Given the description of an element on the screen output the (x, y) to click on. 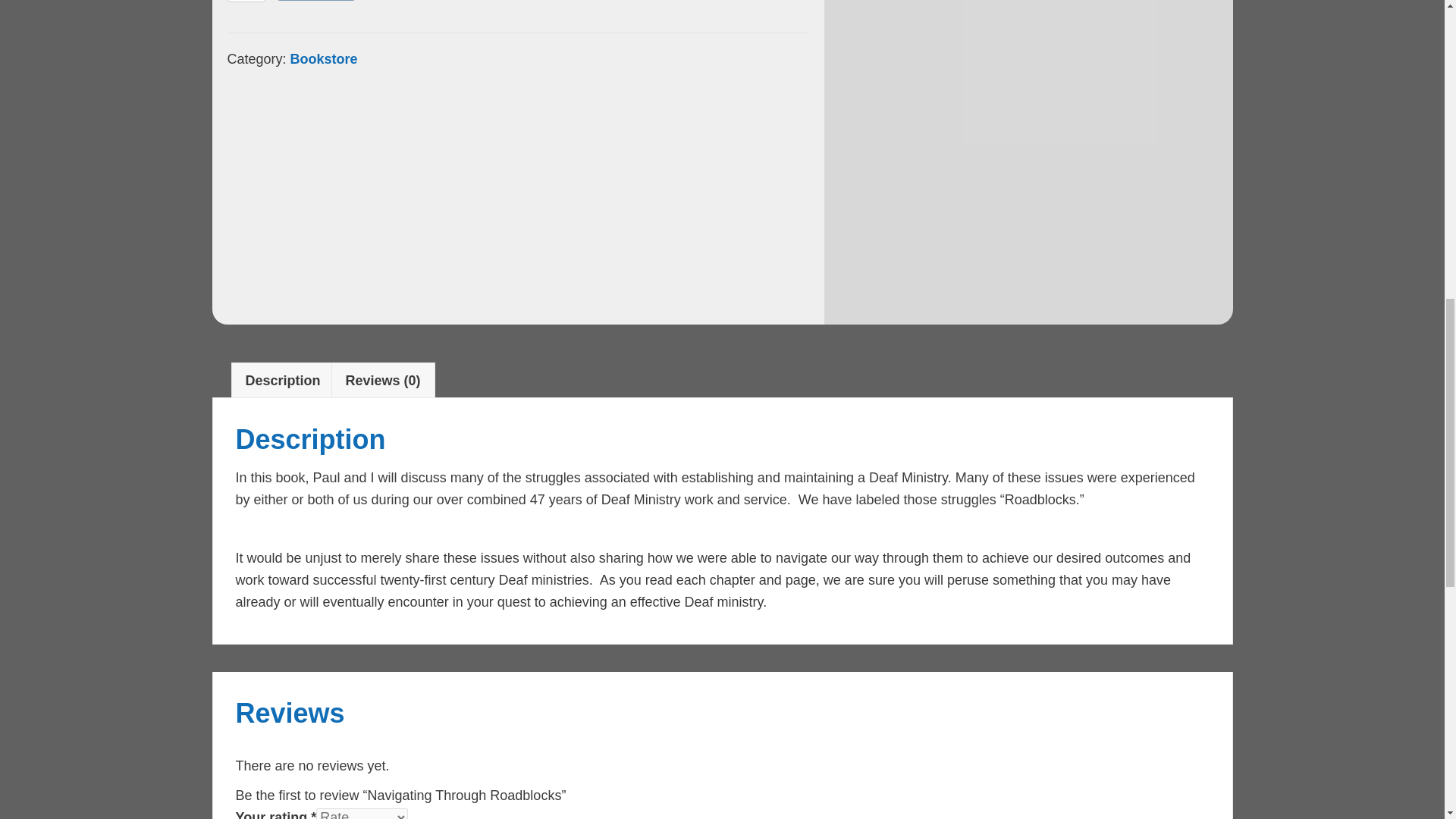
Description (283, 380)
Bookstore (323, 58)
1 (246, 1)
